Given the description of an element on the screen output the (x, y) to click on. 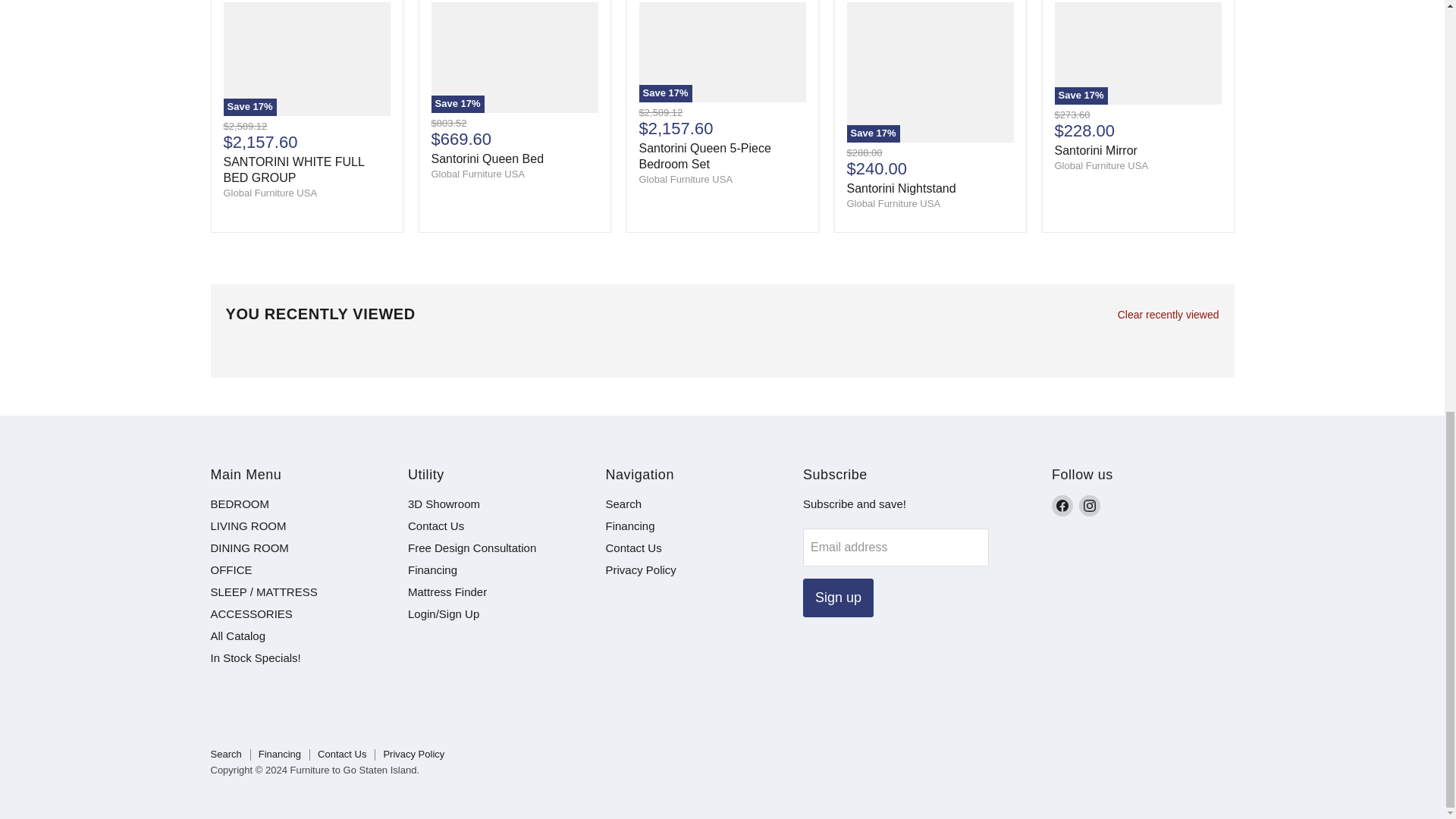
Global Furniture USA (269, 193)
Facebook (1062, 505)
Global Furniture USA (892, 203)
Global Furniture USA (477, 173)
Instagram (1089, 505)
Global Furniture USA (1101, 165)
Global Furniture USA (685, 179)
